Given the description of an element on the screen output the (x, y) to click on. 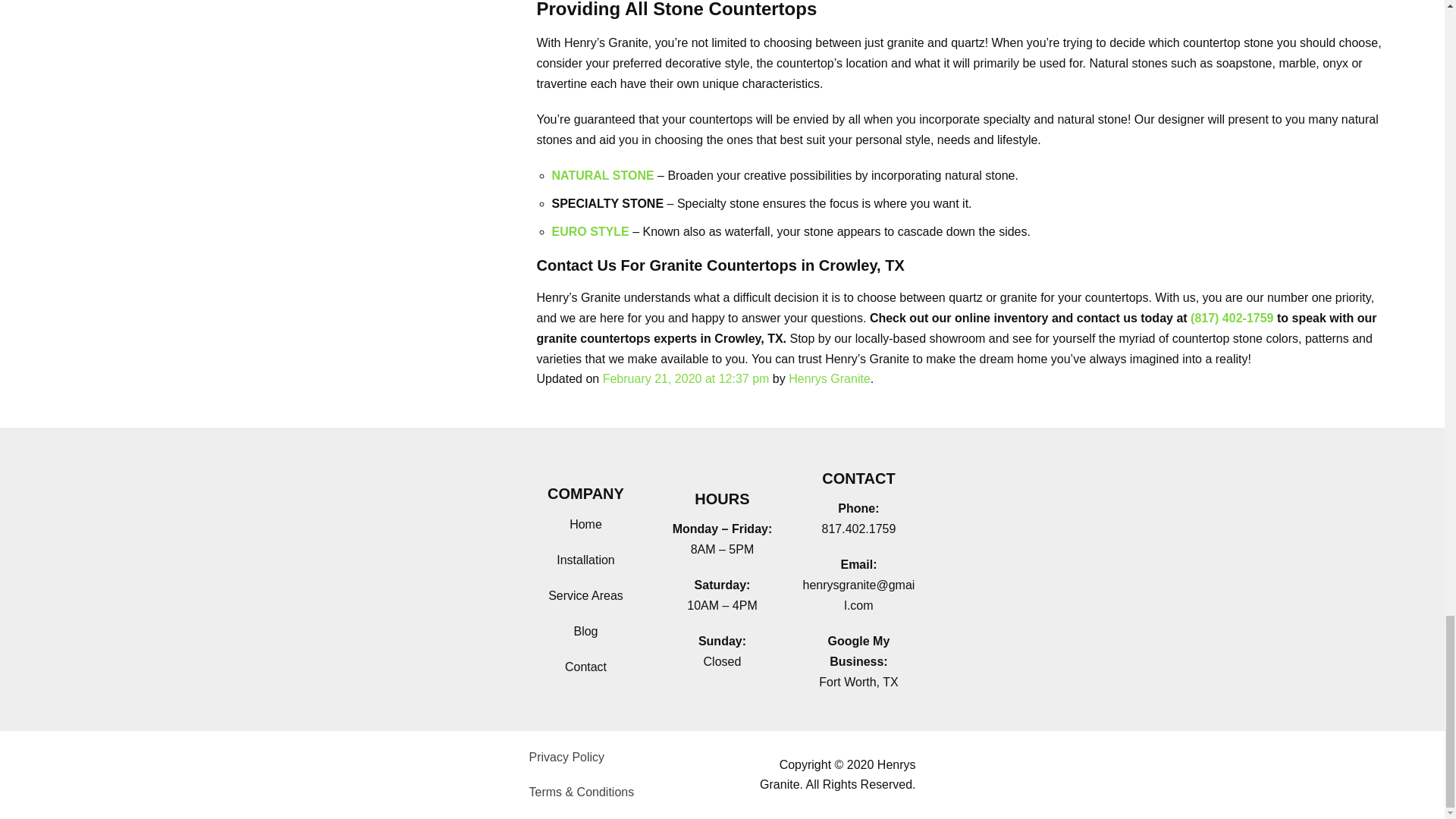
View all posts by Henrys Granite (829, 378)
12:25 PM (686, 378)
